Given the description of an element on the screen output the (x, y) to click on. 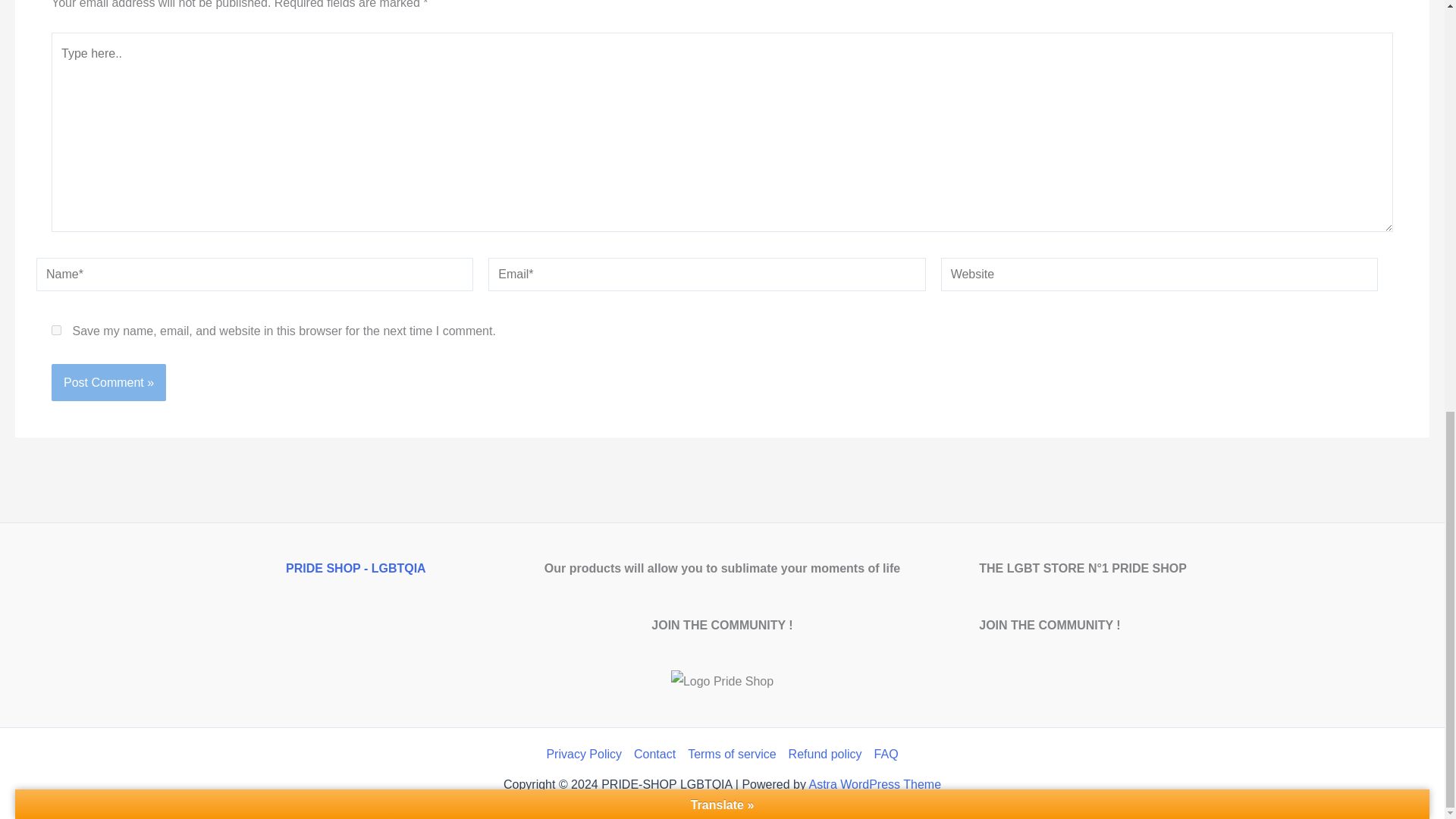
yes (55, 329)
